Given the description of an element on the screen output the (x, y) to click on. 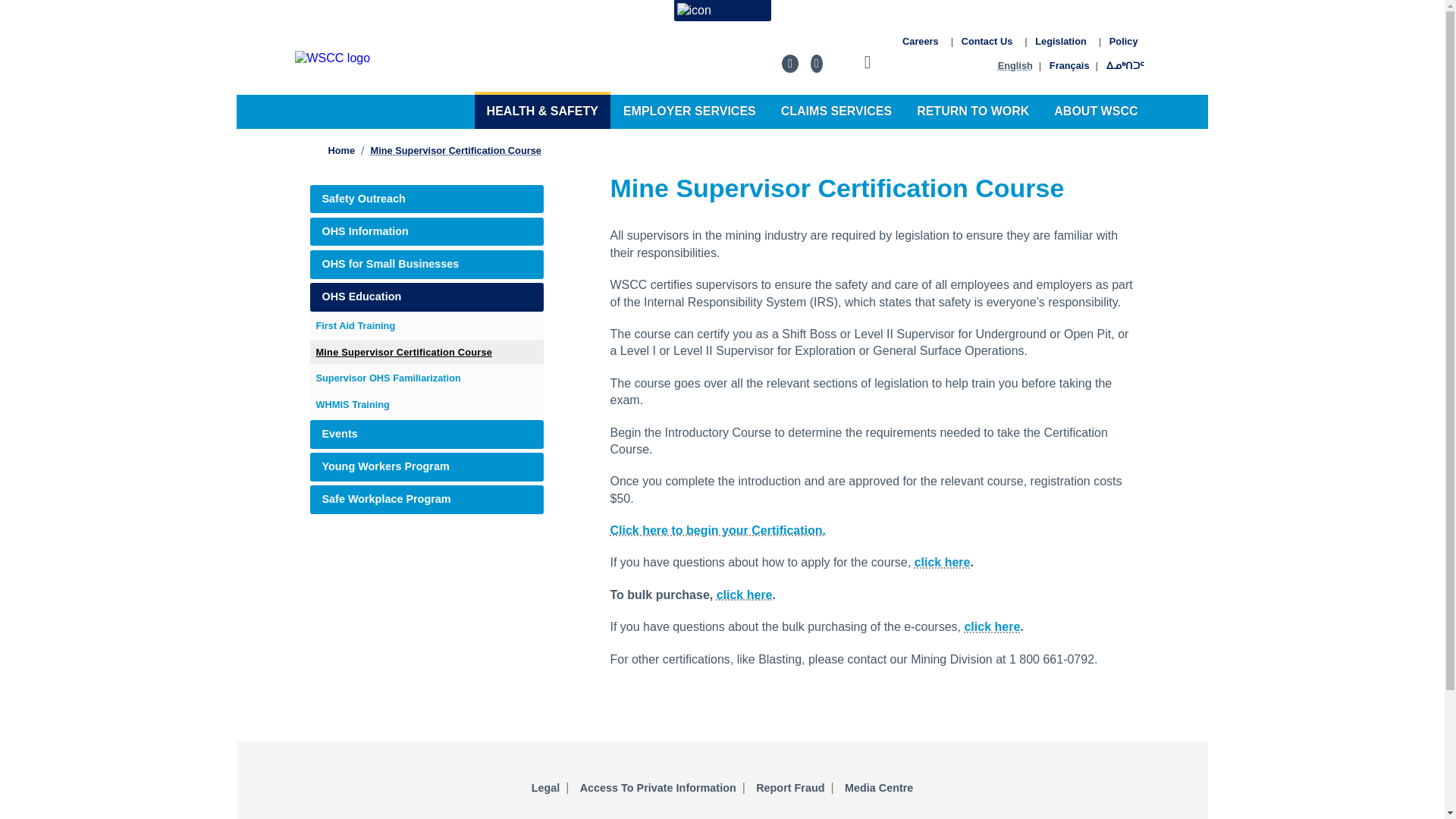
Twitter (816, 63)
Like us on Facebook (789, 63)
Access WSCC services online (721, 10)
Search (867, 65)
Follow us on Twitter (816, 63)
WSCC Connect (721, 10)
Facebook (789, 63)
Toggle the site search form (867, 65)
Careers (919, 41)
 WSCC Homepage  (524, 57)
